Given the description of an element on the screen output the (x, y) to click on. 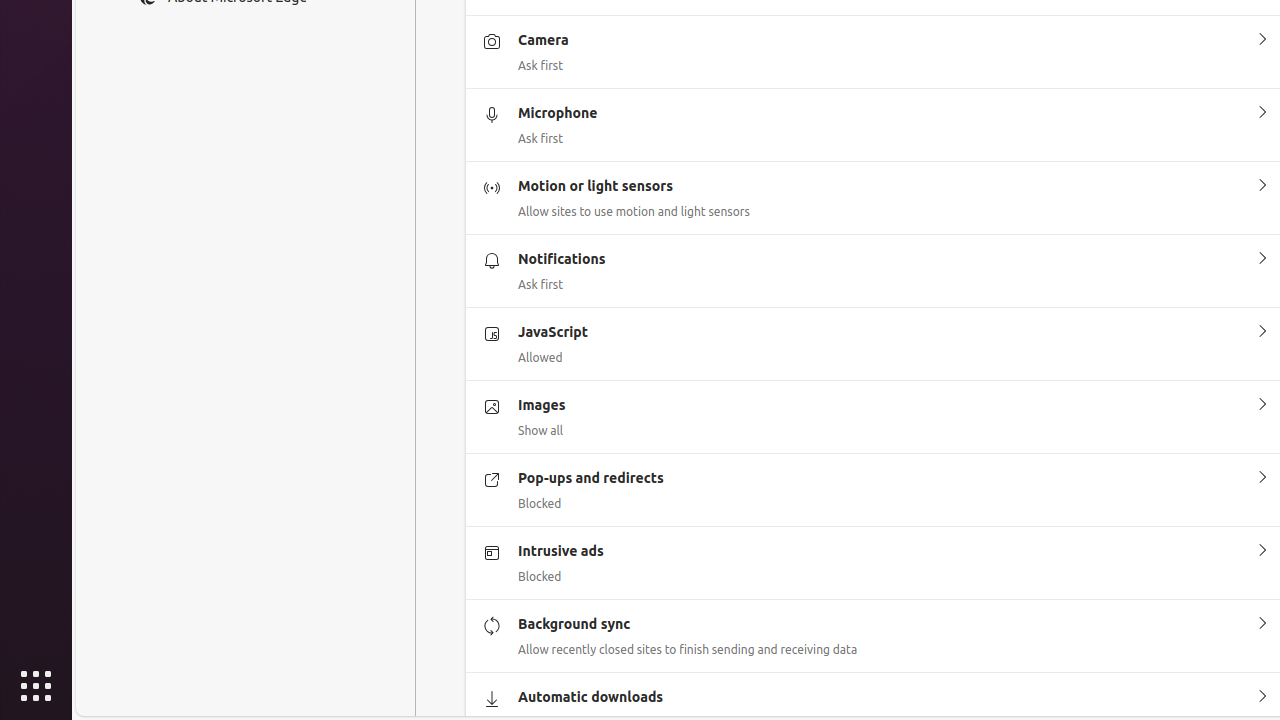
Camera Element type: push-button (1262, 40)
